Given the description of an element on the screen output the (x, y) to click on. 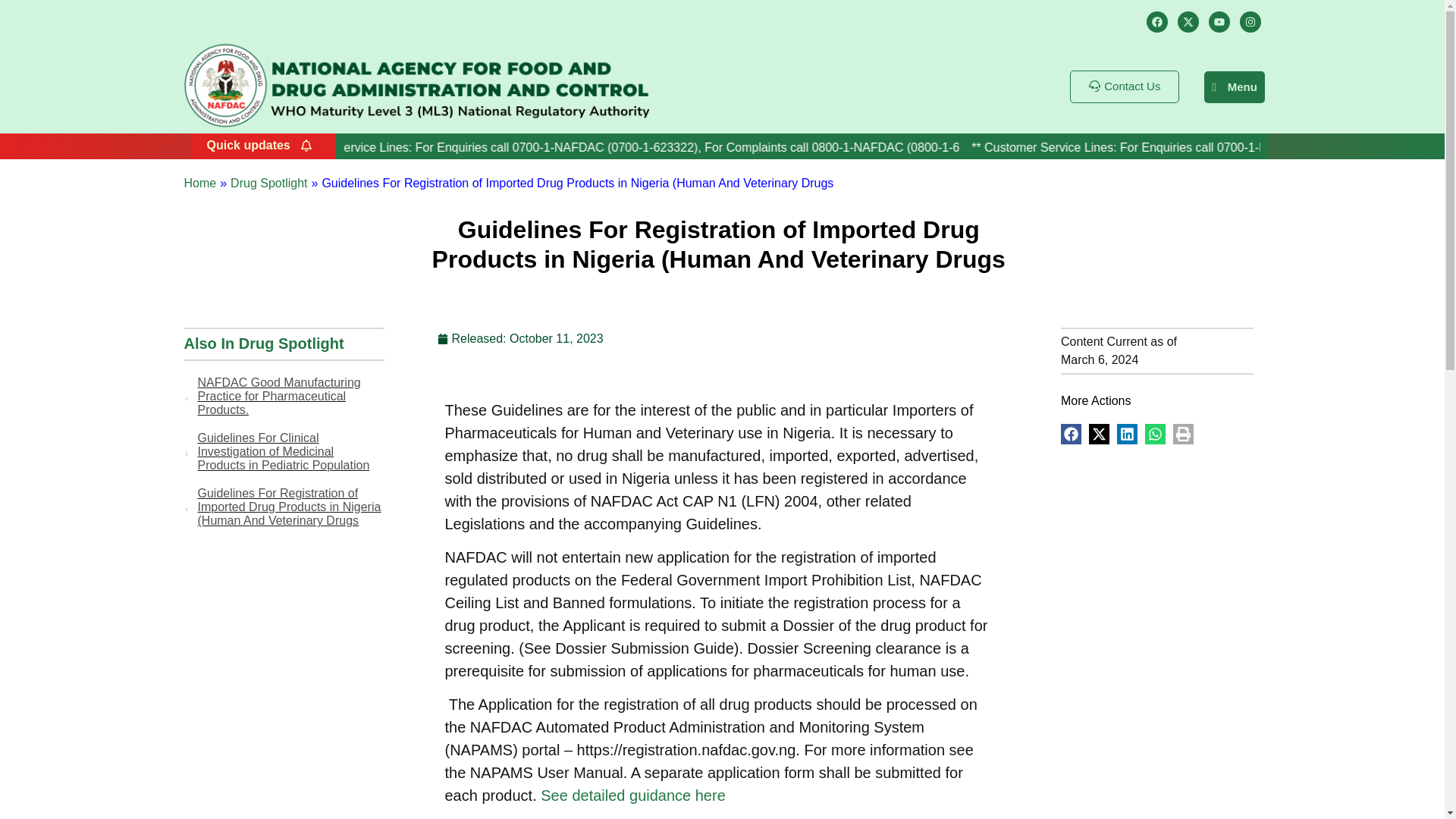
Drug Spotlight (290, 343)
Released: October 11, 2023 (519, 338)
Quick updates (258, 146)
Contact Us (1124, 86)
See detailed guidance here (632, 795)
Drug Spotlight (268, 182)
Menu (1234, 87)
Home (199, 183)
